Given the description of an element on the screen output the (x, y) to click on. 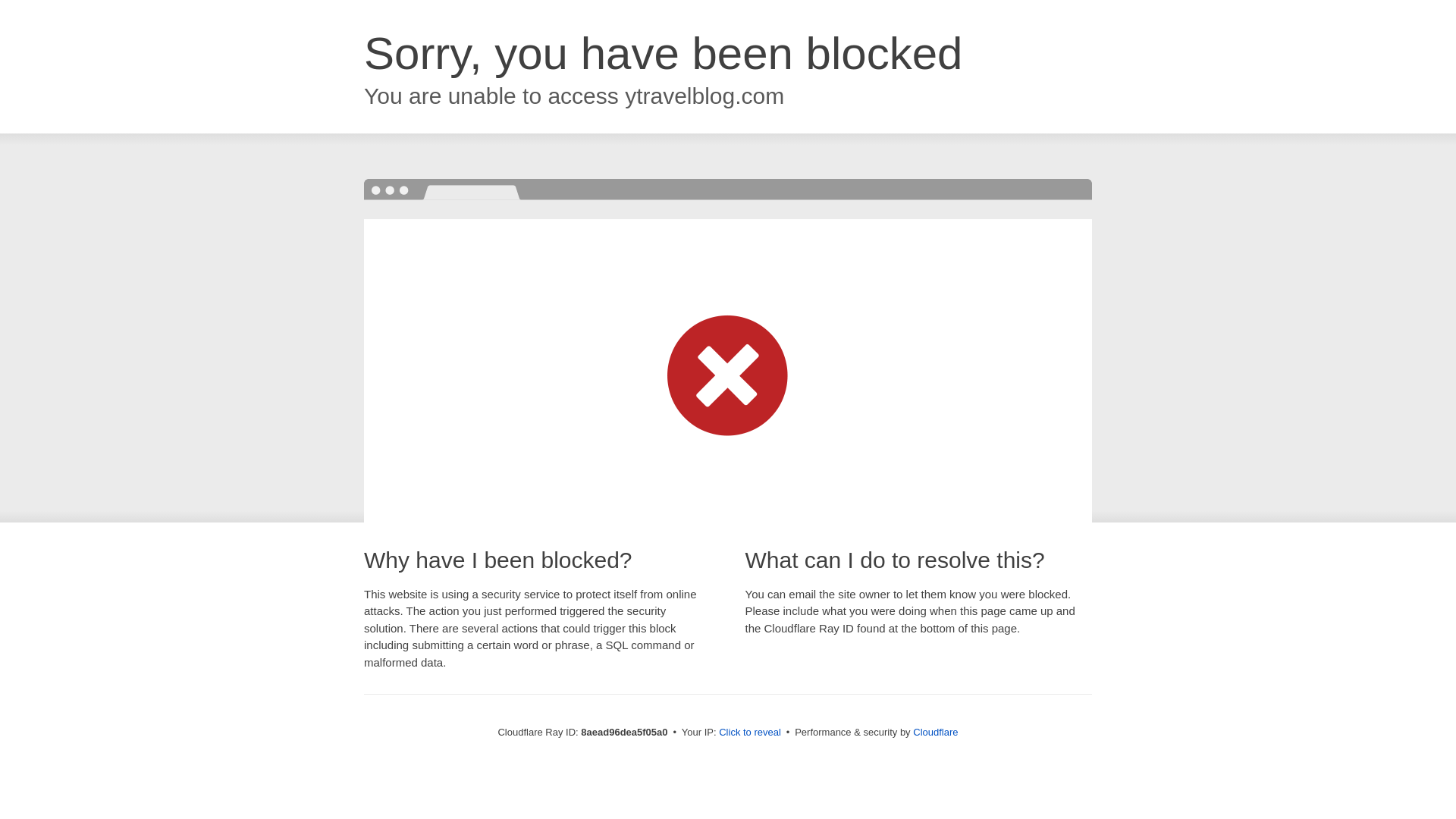
Cloudflare (935, 731)
Click to reveal (749, 732)
